Given the description of an element on the screen output the (x, y) to click on. 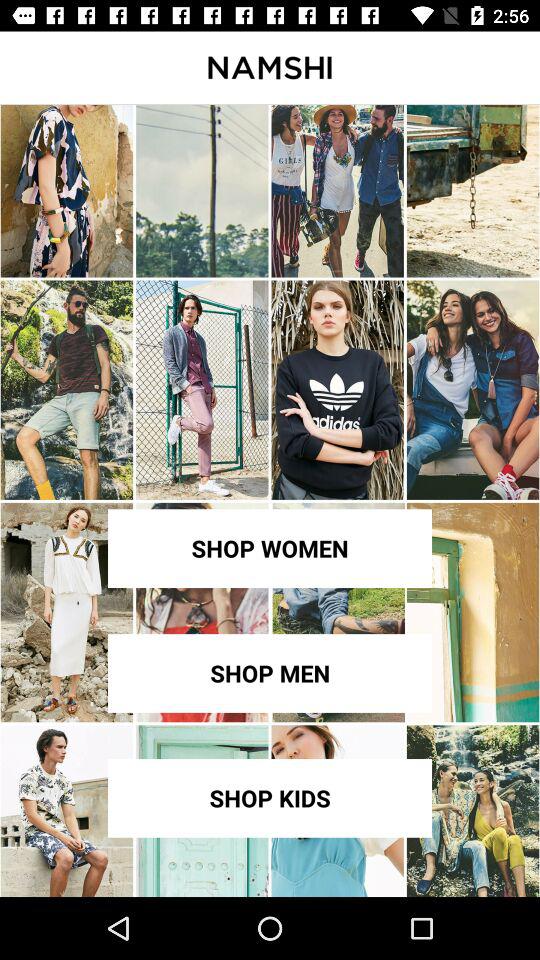
swipe until shop women icon (270, 548)
